Given the description of an element on the screen output the (x, y) to click on. 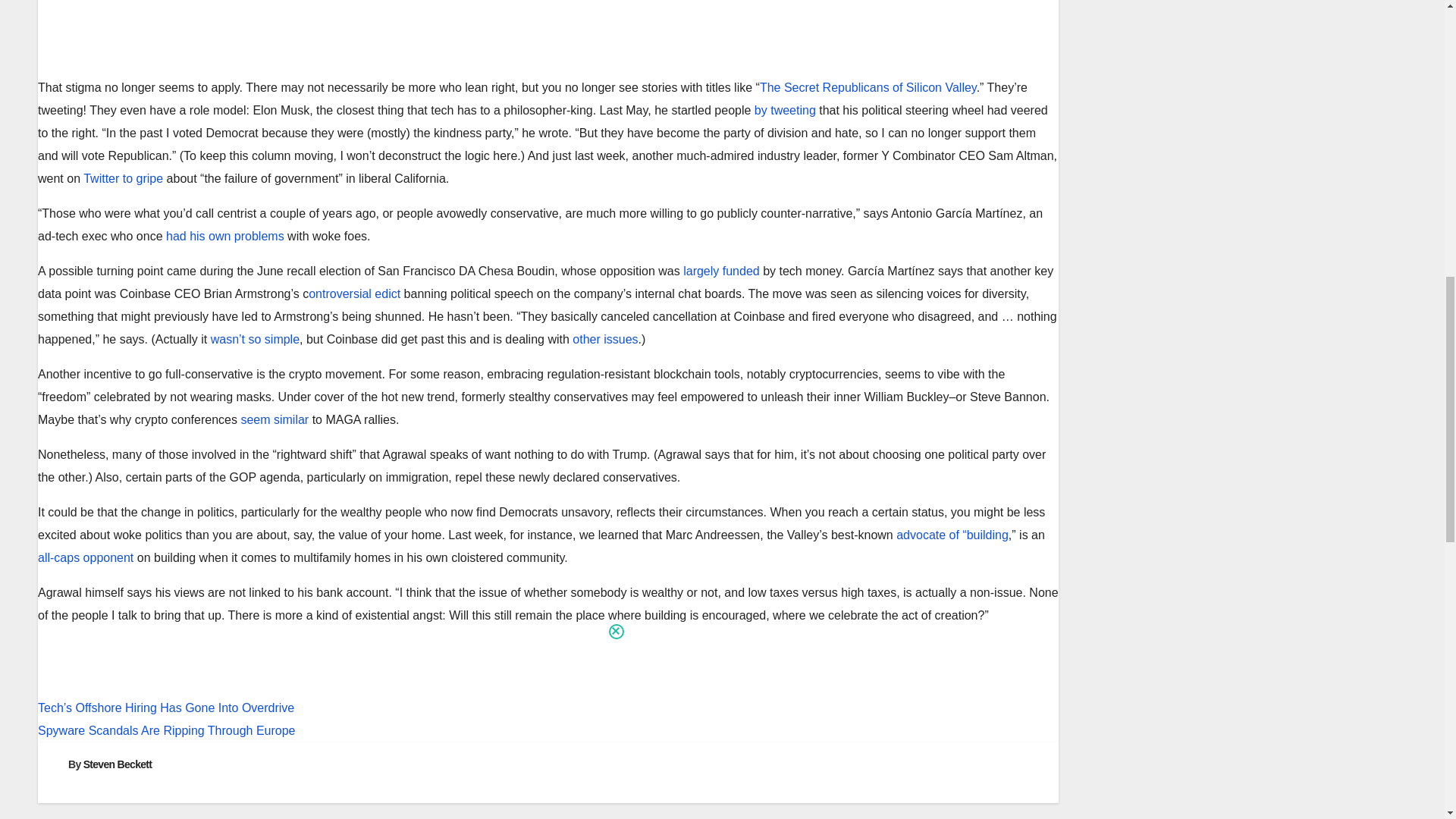
had his own problems (224, 236)
largely funded (721, 270)
ontroversial edict (354, 293)
all-caps opponent (85, 557)
The Secret Republicans of Silicon Valley (868, 87)
other issues (604, 338)
Spyware Scandals Are Ripping Through Europe (547, 732)
by tweeting (784, 110)
seem similar (274, 419)
Steven Beckett (117, 764)
Twitter to gripe (122, 178)
